Given the description of an element on the screen output the (x, y) to click on. 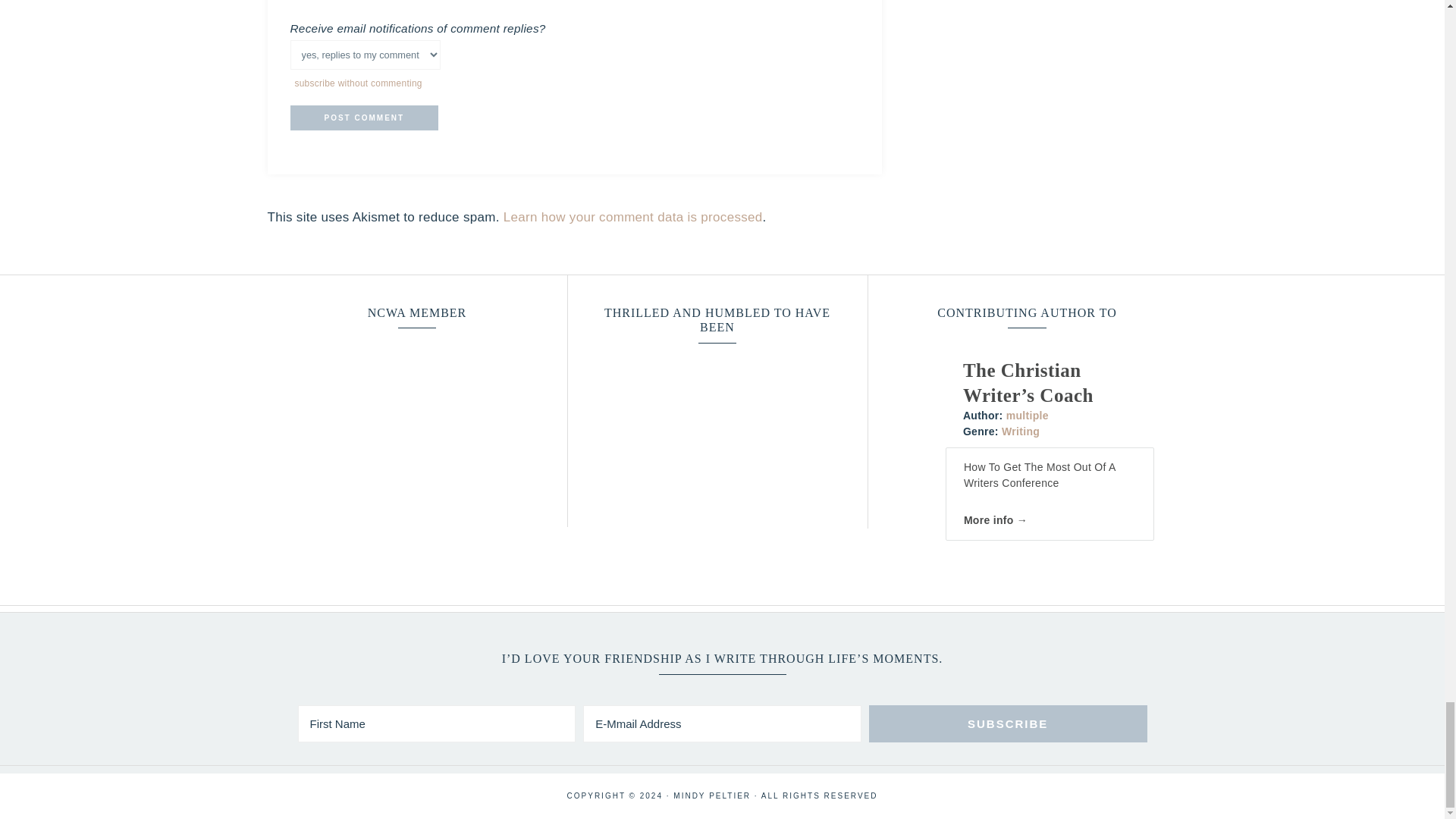
NCWA Member (416, 426)
Receive Notifications? (364, 54)
Post Comment (363, 117)
Subscribe (1008, 723)
